Given the description of an element on the screen output the (x, y) to click on. 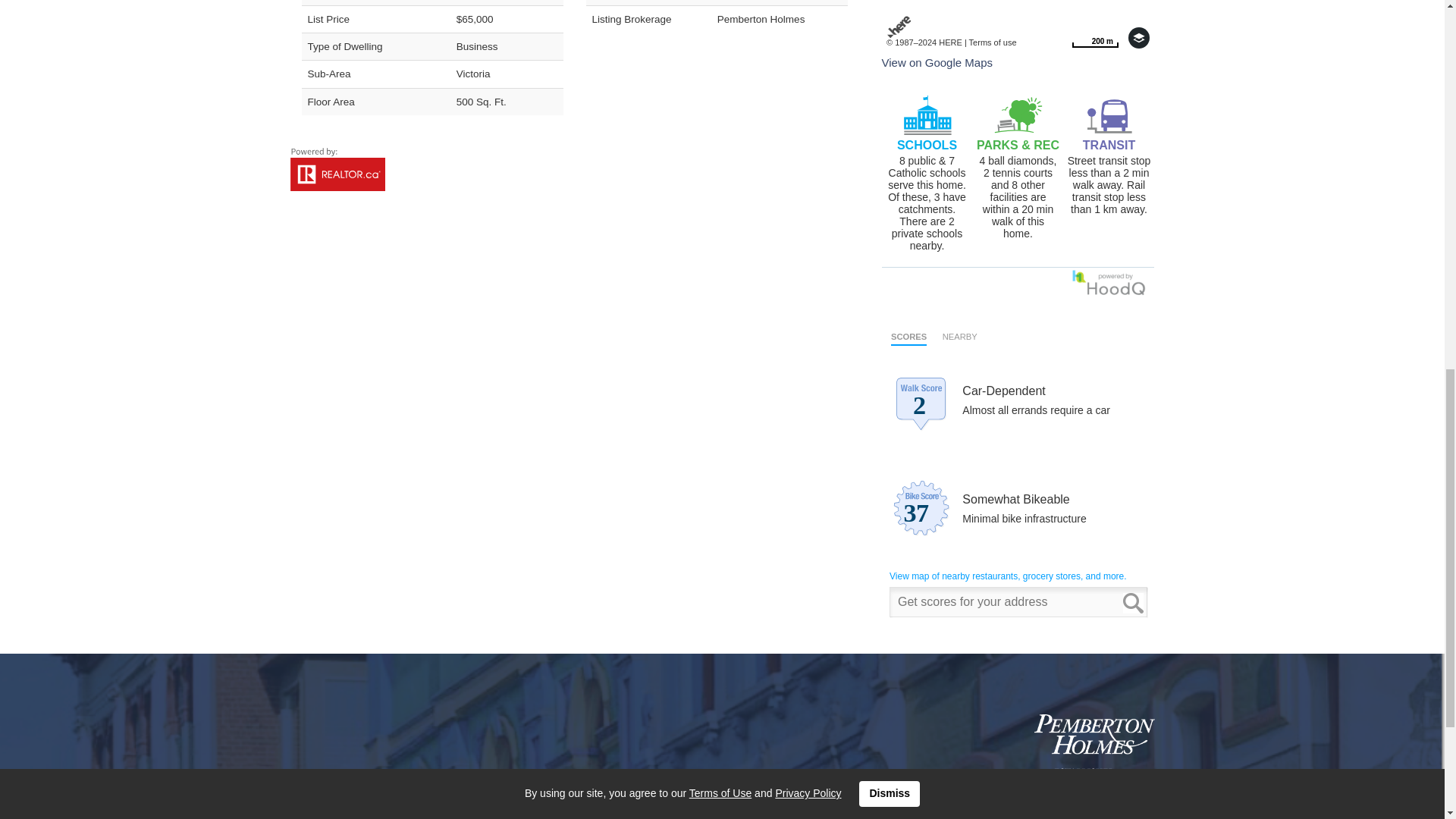
Walk Score (1017, 471)
View on Google Maps (1095, 37)
Change to miles (935, 62)
Terms of use (1095, 37)
Choose view (992, 41)
